Given the description of an element on the screen output the (x, y) to click on. 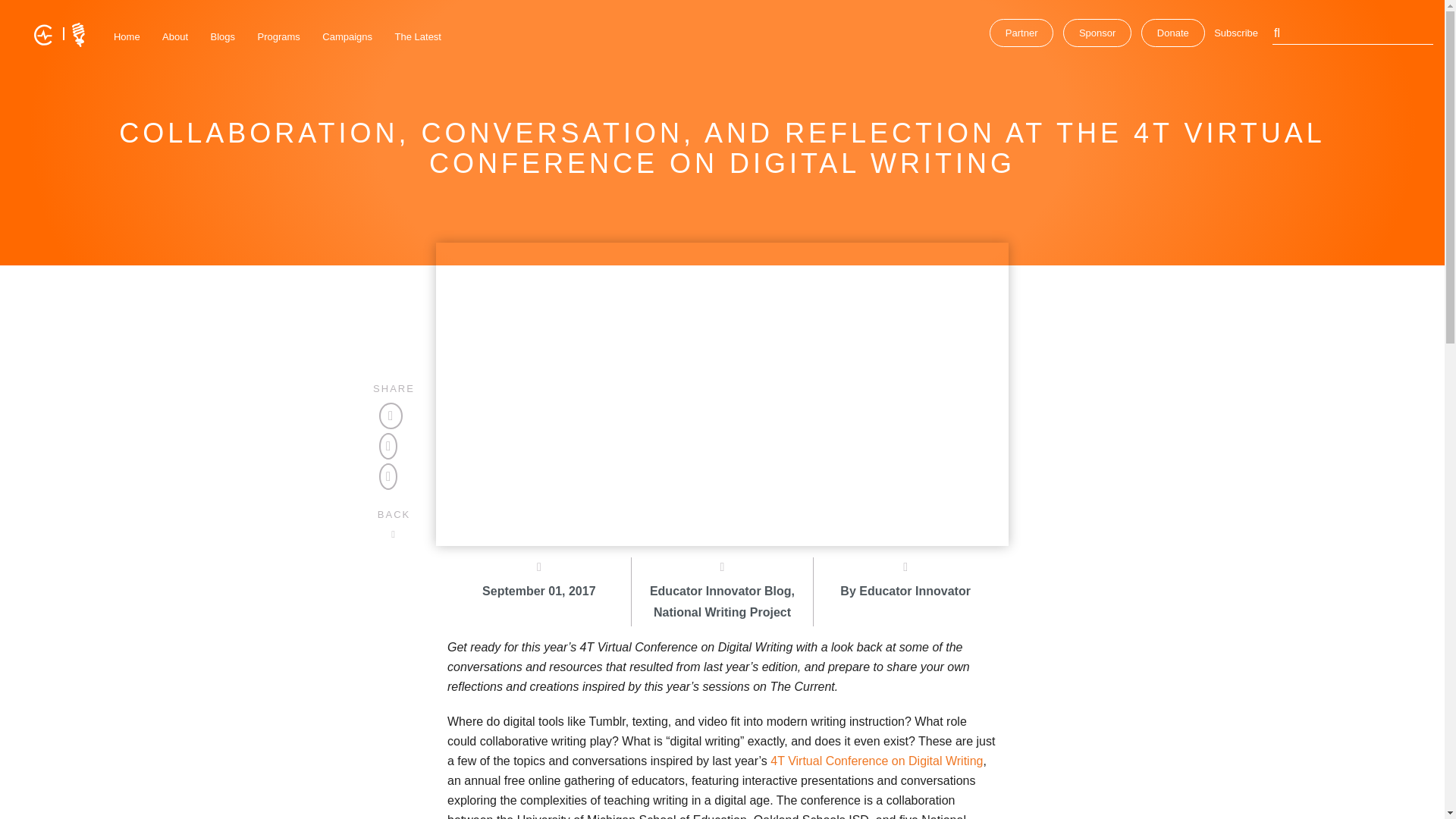
Partner (1022, 32)
Educator Innovator Blog, (722, 603)
BACK (393, 523)
Home (126, 37)
About (175, 37)
Blogs (223, 37)
Programs (278, 37)
National Writing Project (722, 612)
4T Virtual Conference on Digital Writing (876, 760)
Sponsor (1096, 32)
Donate (1173, 32)
Subscribe (1235, 32)
The Latest (417, 37)
Campaigns (347, 37)
